Given the description of an element on the screen output the (x, y) to click on. 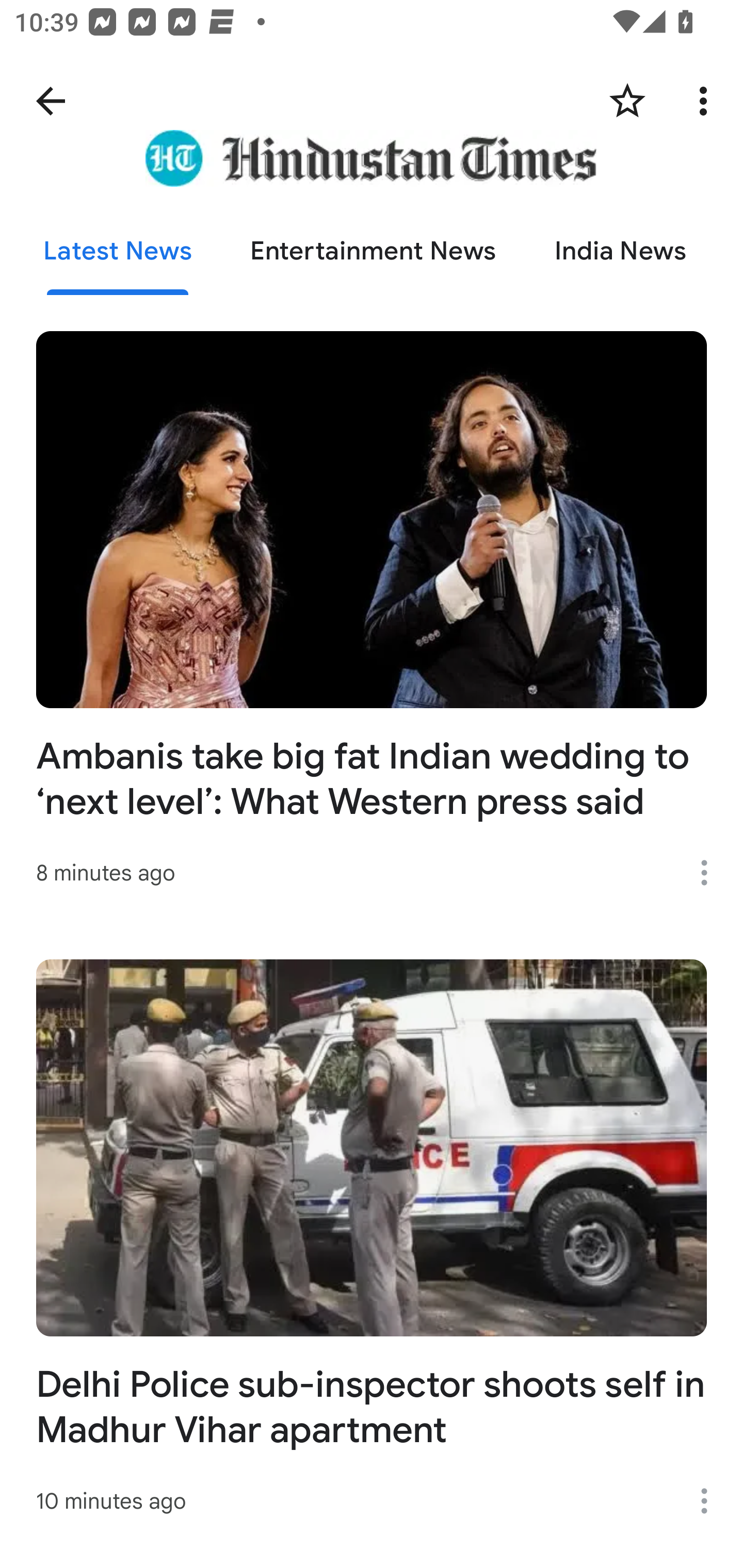
Navigate up (50, 101)
Follow (626, 101)
More options (706, 101)
Entertainment News (373, 251)
India News (619, 251)
More options (711, 872)
More options (711, 1501)
